Given the description of an element on the screen output the (x, y) to click on. 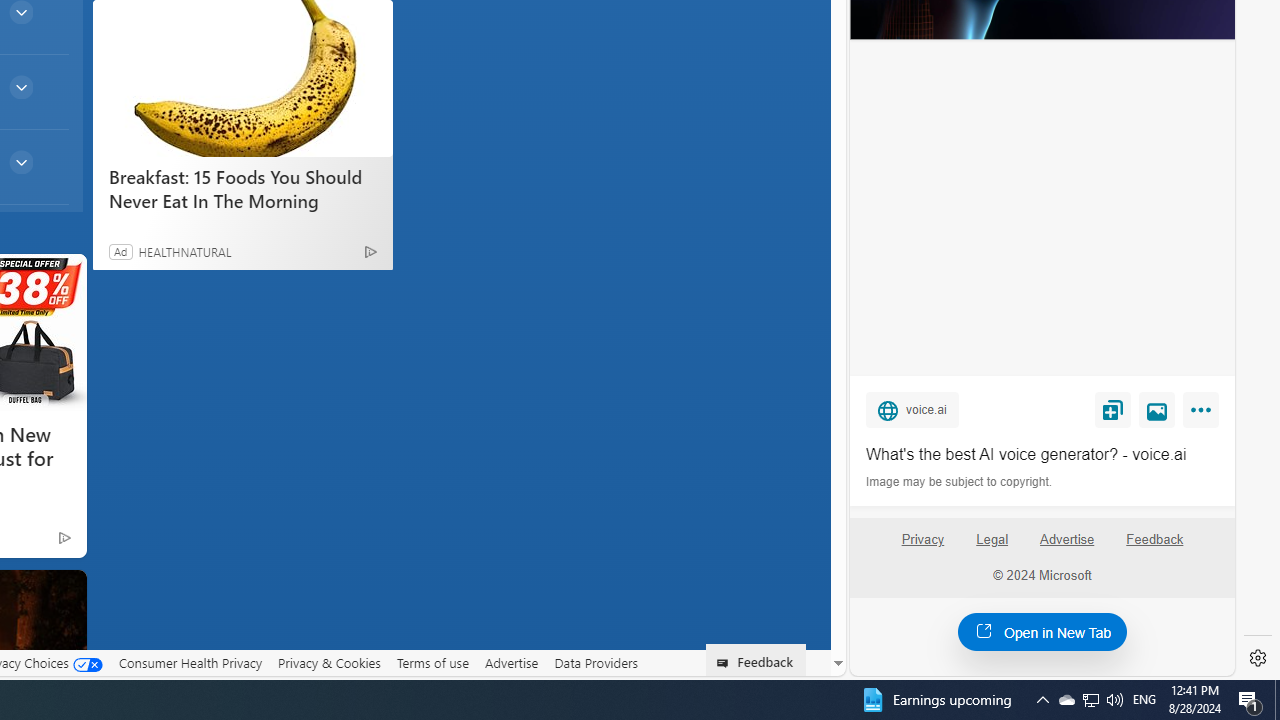
Consumer Health Privacy (189, 663)
Privacy & Cookies (329, 663)
Open in New Tab (1042, 631)
Legal (991, 539)
Save (1112, 409)
Consumer Health Privacy (189, 662)
Legal (992, 547)
Data Providers (595, 663)
Terms of use (431, 662)
Image may be subject to copyright. (959, 481)
